Given the description of an element on the screen output the (x, y) to click on. 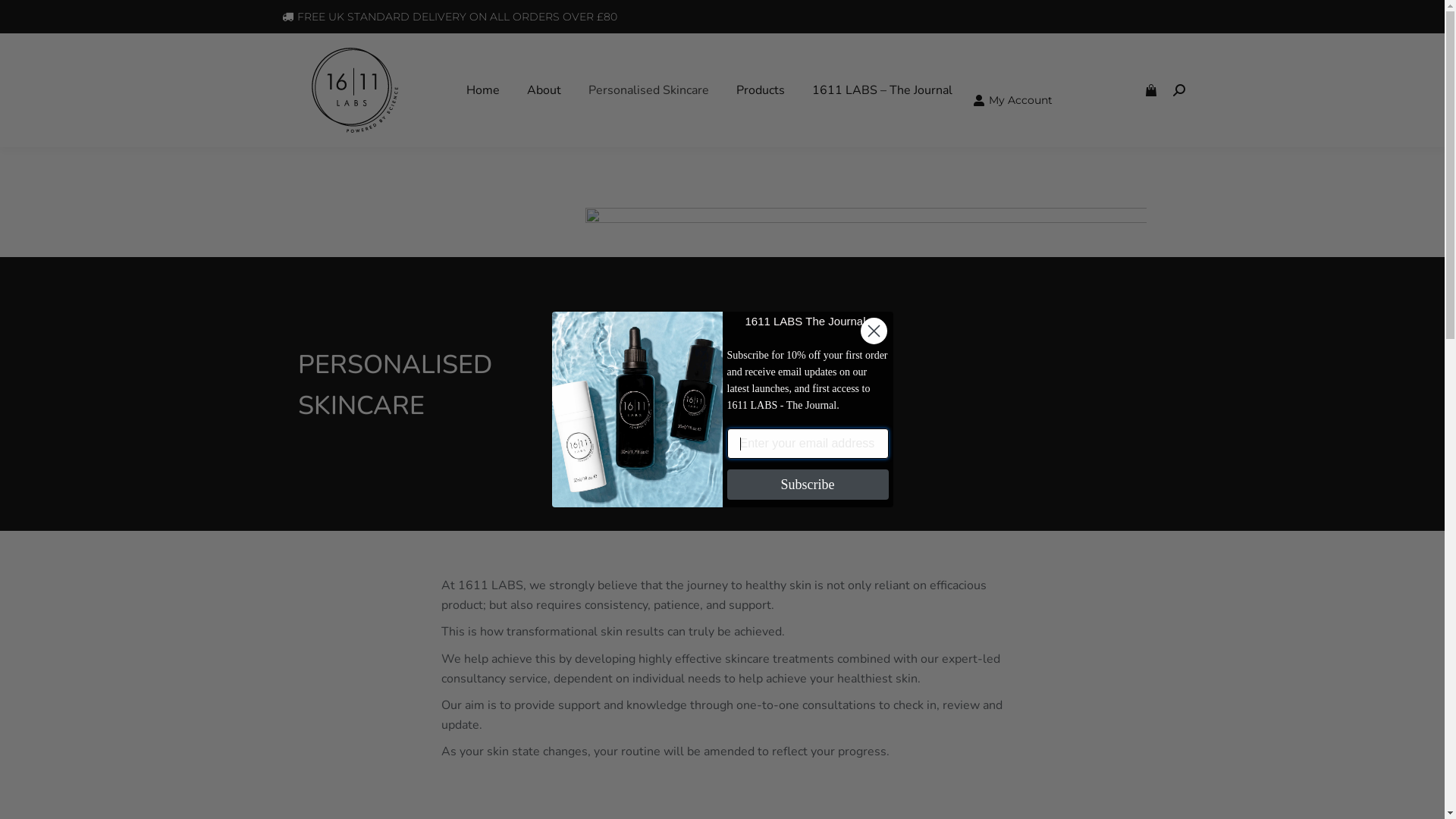
  Element type: text (1151, 90)
About Element type: text (543, 90)
Home Element type: text (482, 90)
Subscribe Element type: text (807, 484)
Submit Element type: text (32, 16)
Personalised Skincare Element type: text (648, 90)
Go! Element type: text (23, 16)
Products Element type: text (759, 90)
